Given the description of an element on the screen output the (x, y) to click on. 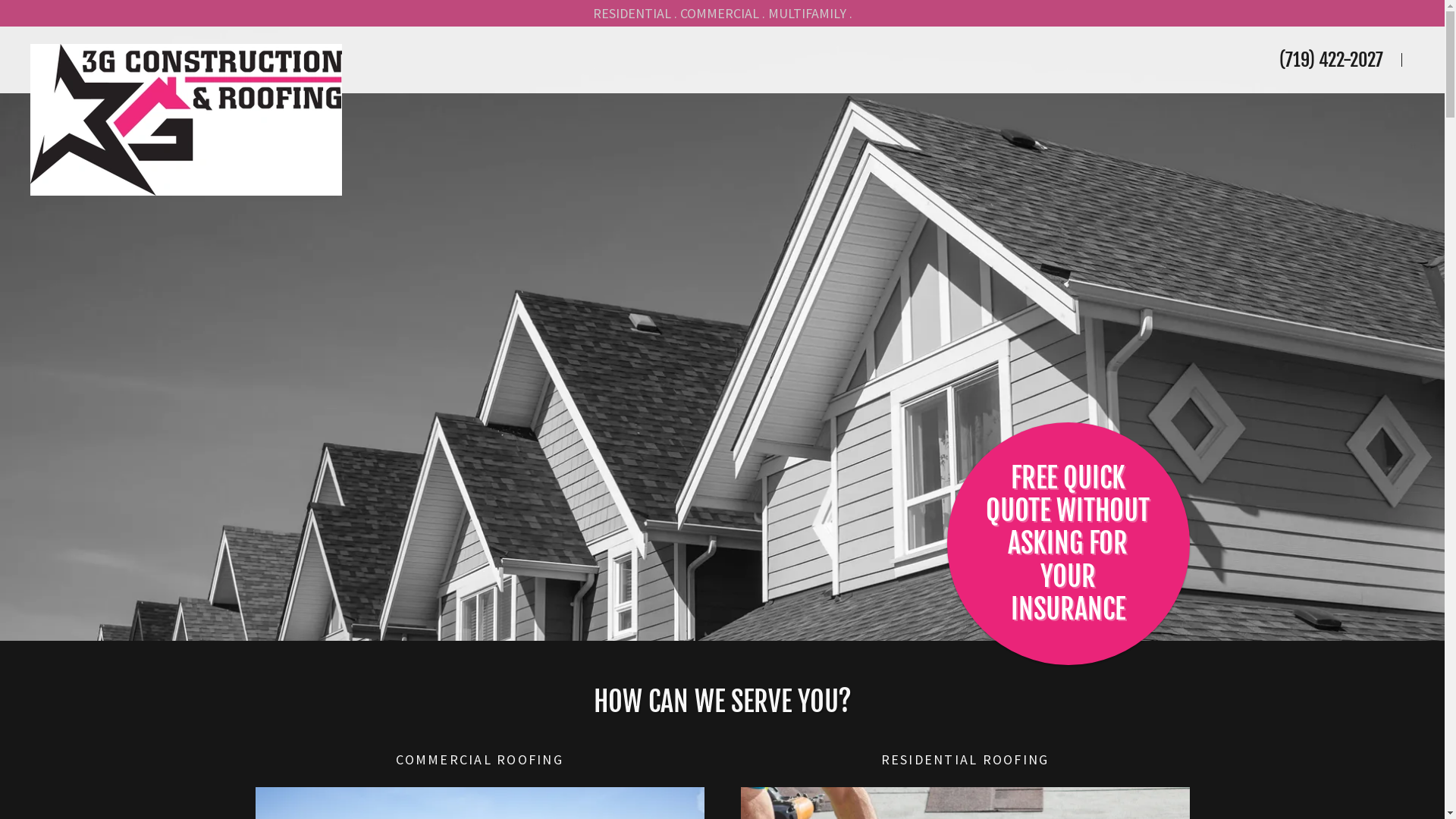
RESIDENTIAL . COMMERCIAL . MULTIFAMILY . Element type: text (722, 13)
(719) 422-2027 Element type: text (1331, 59)
3G Construction & Roofing Element type: hover (536, 50)
